Given the description of an element on the screen output the (x, y) to click on. 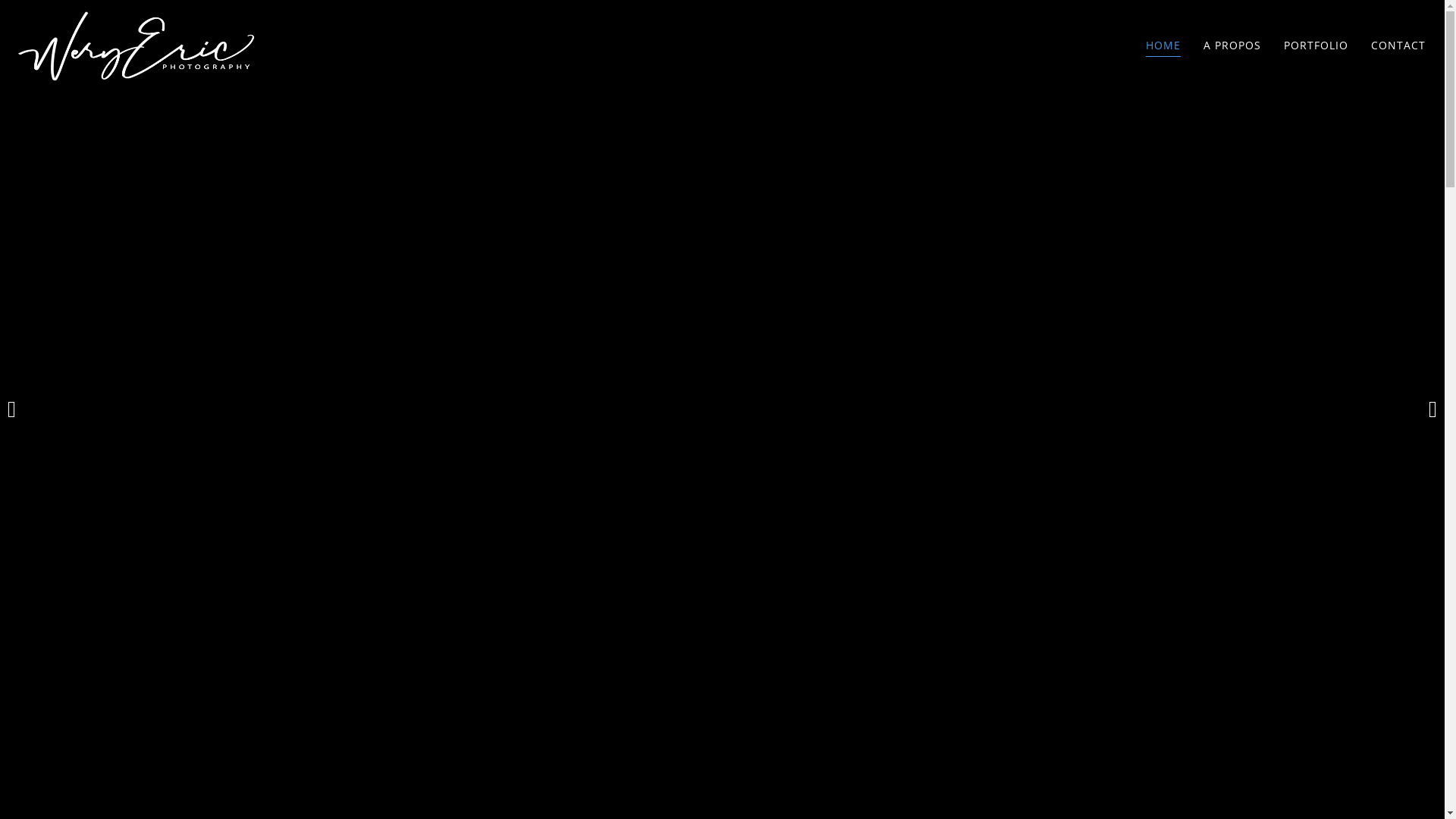
HOME Element type: text (1162, 45)
PORTFOLIO Element type: text (1315, 45)
A PROPOS Element type: text (1232, 45)
CONTACT Element type: text (1398, 45)
